Given the description of an element on the screen output the (x, y) to click on. 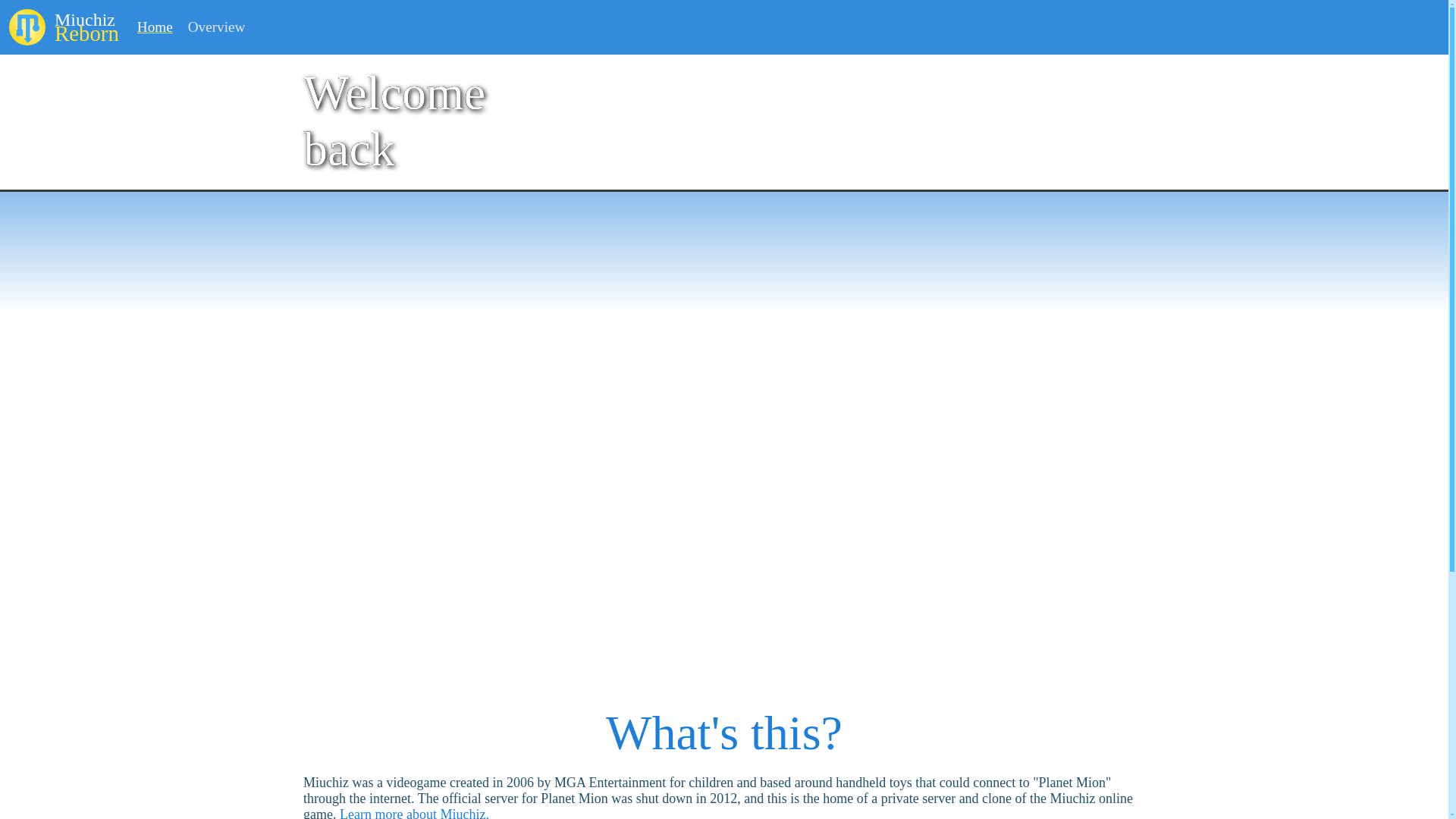
Overview (69, 25)
Learn more about Miuchiz. (216, 26)
Home (414, 812)
